Given the description of an element on the screen output the (x, y) to click on. 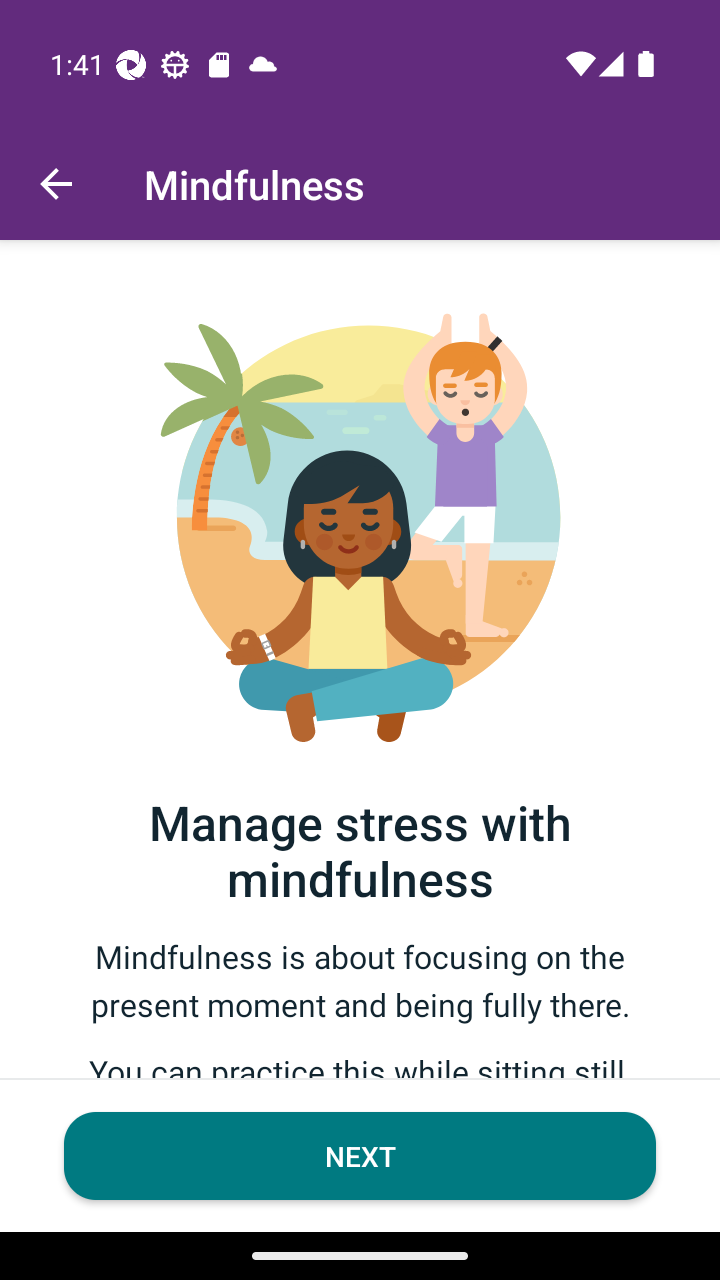
Navigate up (56, 184)
NEXT (359, 1156)
